Given the description of an element on the screen output the (x, y) to click on. 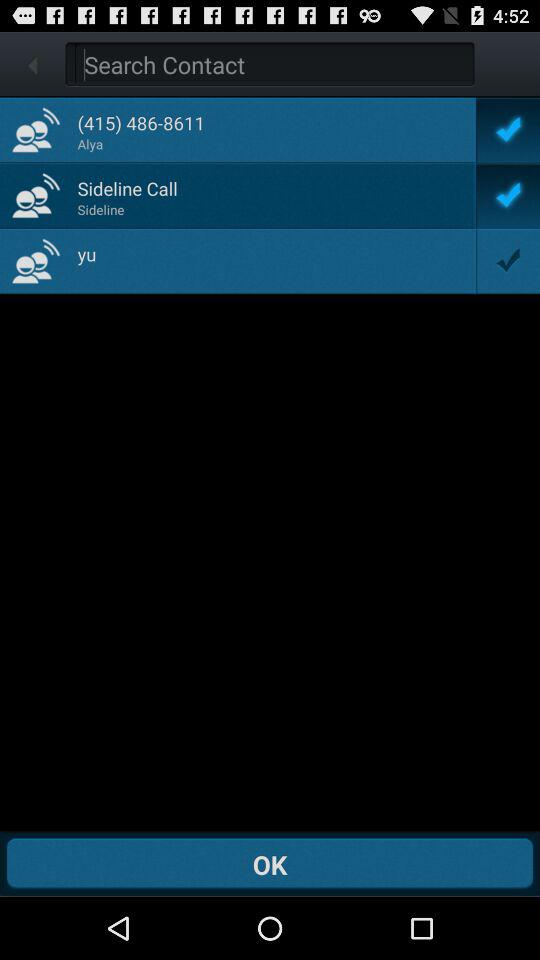
come back (274, 64)
